Given the description of an element on the screen output the (x, y) to click on. 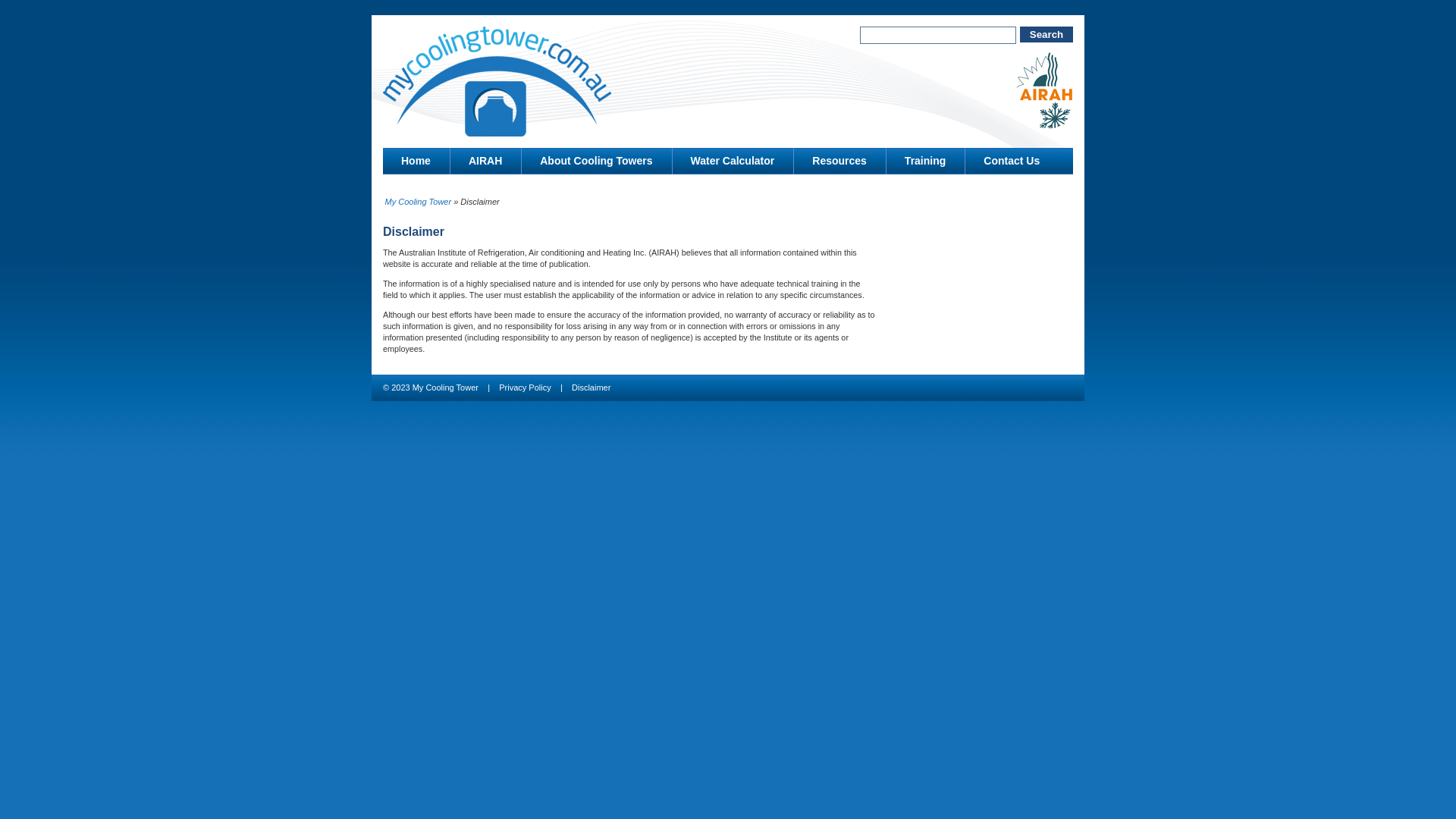
AIRAH Element type: text (485, 160)
About Cooling Towers Element type: text (596, 160)
Water Calculator Element type: text (732, 160)
Training Element type: text (925, 160)
Contact Us Element type: text (1011, 160)
Disclaimer Element type: text (590, 387)
Resources Element type: text (839, 160)
Home Element type: text (415, 160)
My Cooling Tower Element type: text (418, 201)
My Water Cooler Element type: text (496, 81)
Search Element type: text (1046, 34)
Privacy Policy Element type: text (524, 387)
